Given the description of an element on the screen output the (x, y) to click on. 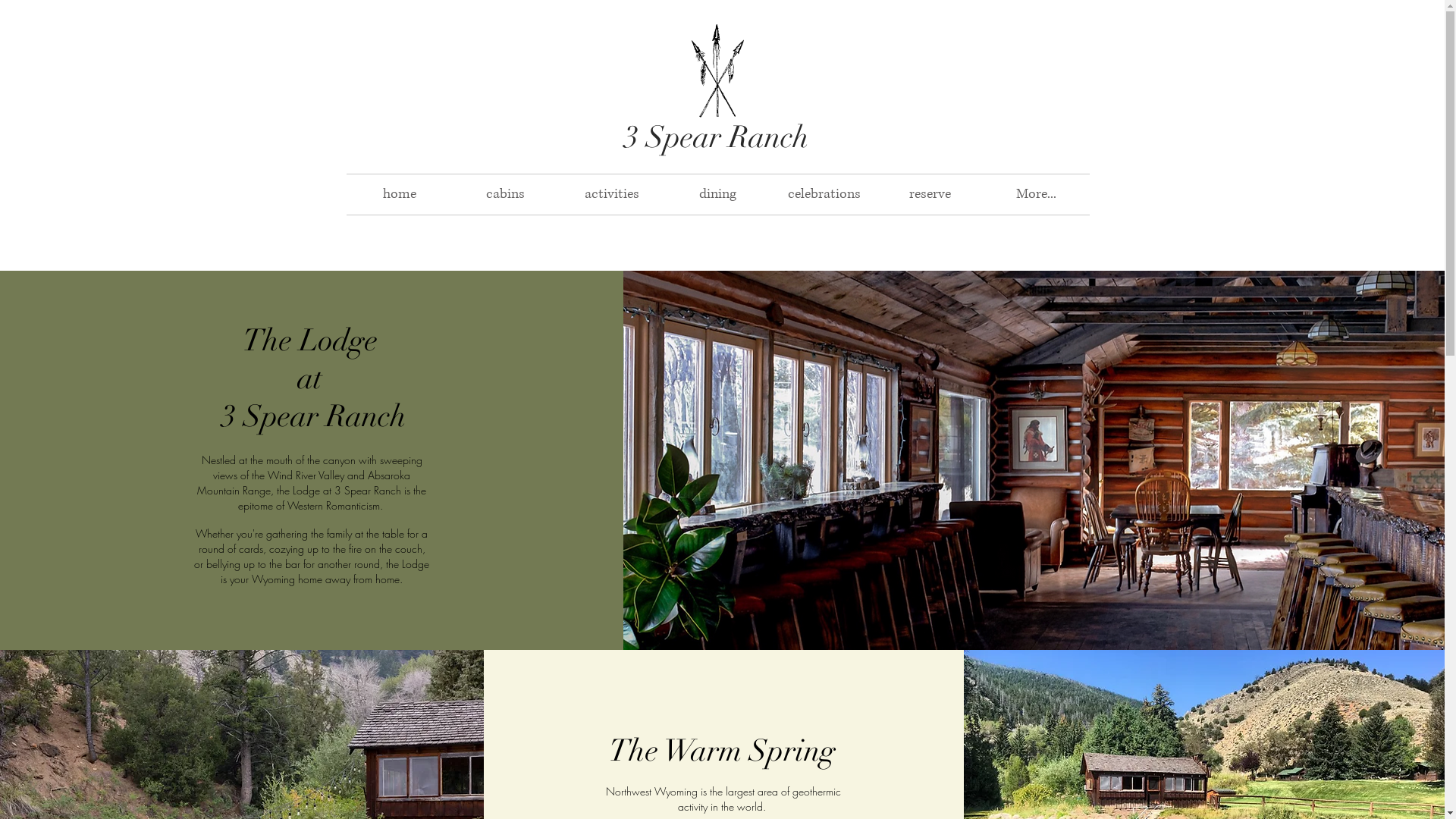
reserve Element type: text (929, 194)
celebrations Element type: text (823, 194)
3 Spear Ranch Element type: text (715, 136)
activities Element type: text (611, 194)
The Lodge 
at 
3 Spear Ranch Element type: text (313, 378)
cabins Element type: text (504, 194)
home Element type: text (398, 194)
dining Element type: text (717, 194)
